Given the description of an element on the screen output the (x, y) to click on. 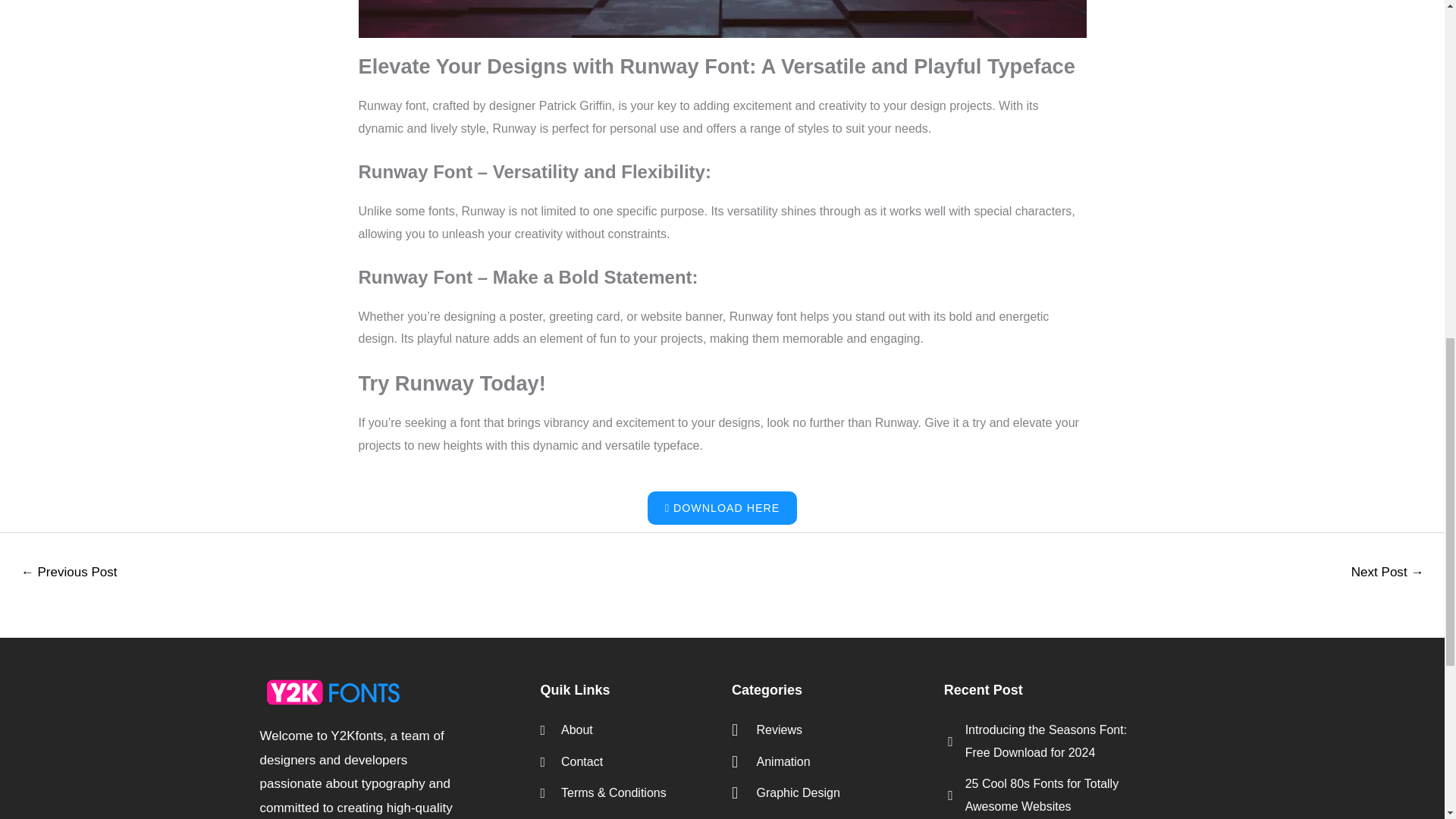
DOWNLOAD HERE (721, 507)
